Given the description of an element on the screen output the (x, y) to click on. 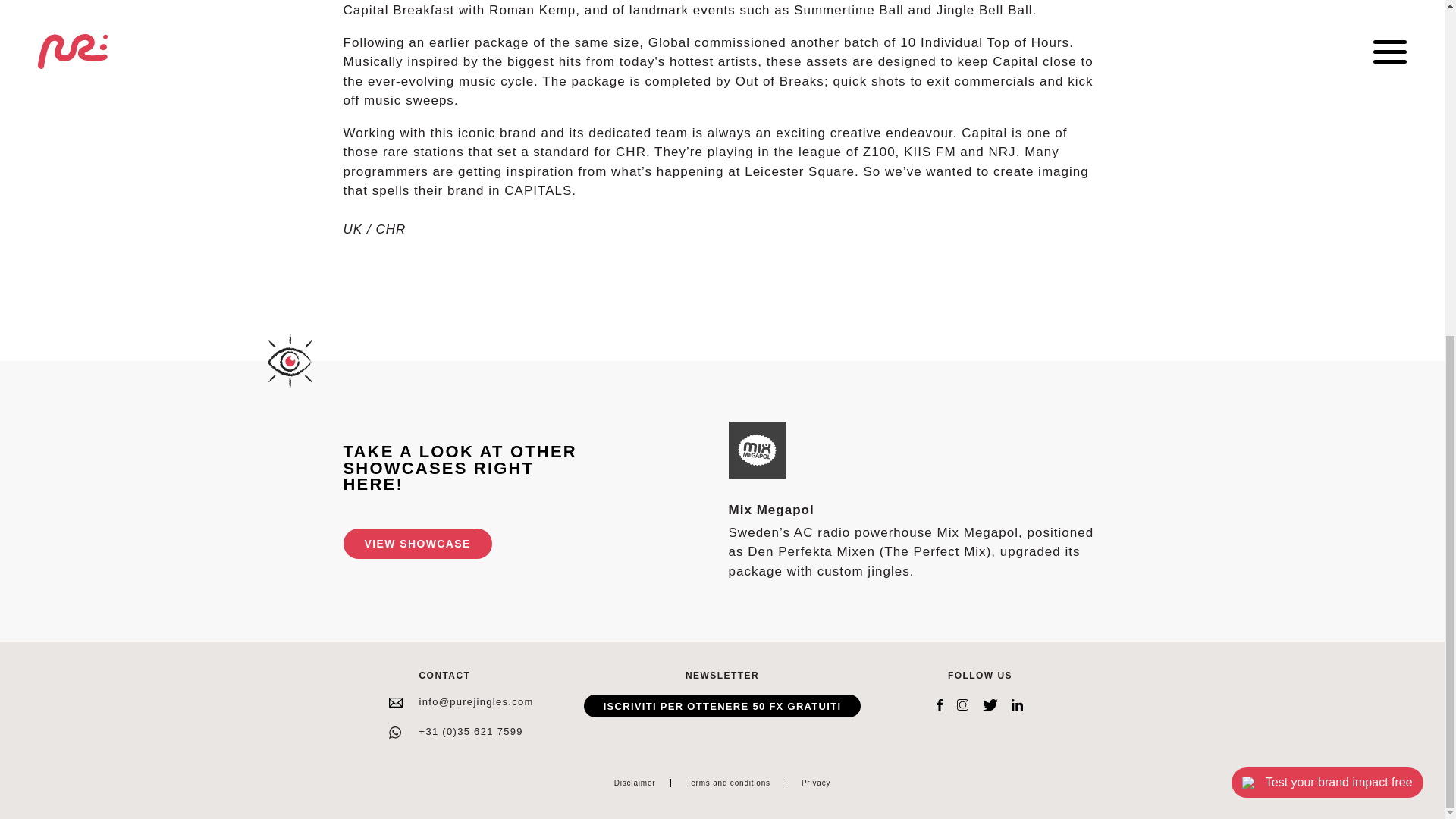
VIEW SHOWCASE (417, 543)
ISCRIVITI PER OTTENERE 50 FX GRATUITI (722, 705)
Terms and conditions (727, 782)
Disclaimer (635, 782)
Privacy (815, 782)
